Given the description of an element on the screen output the (x, y) to click on. 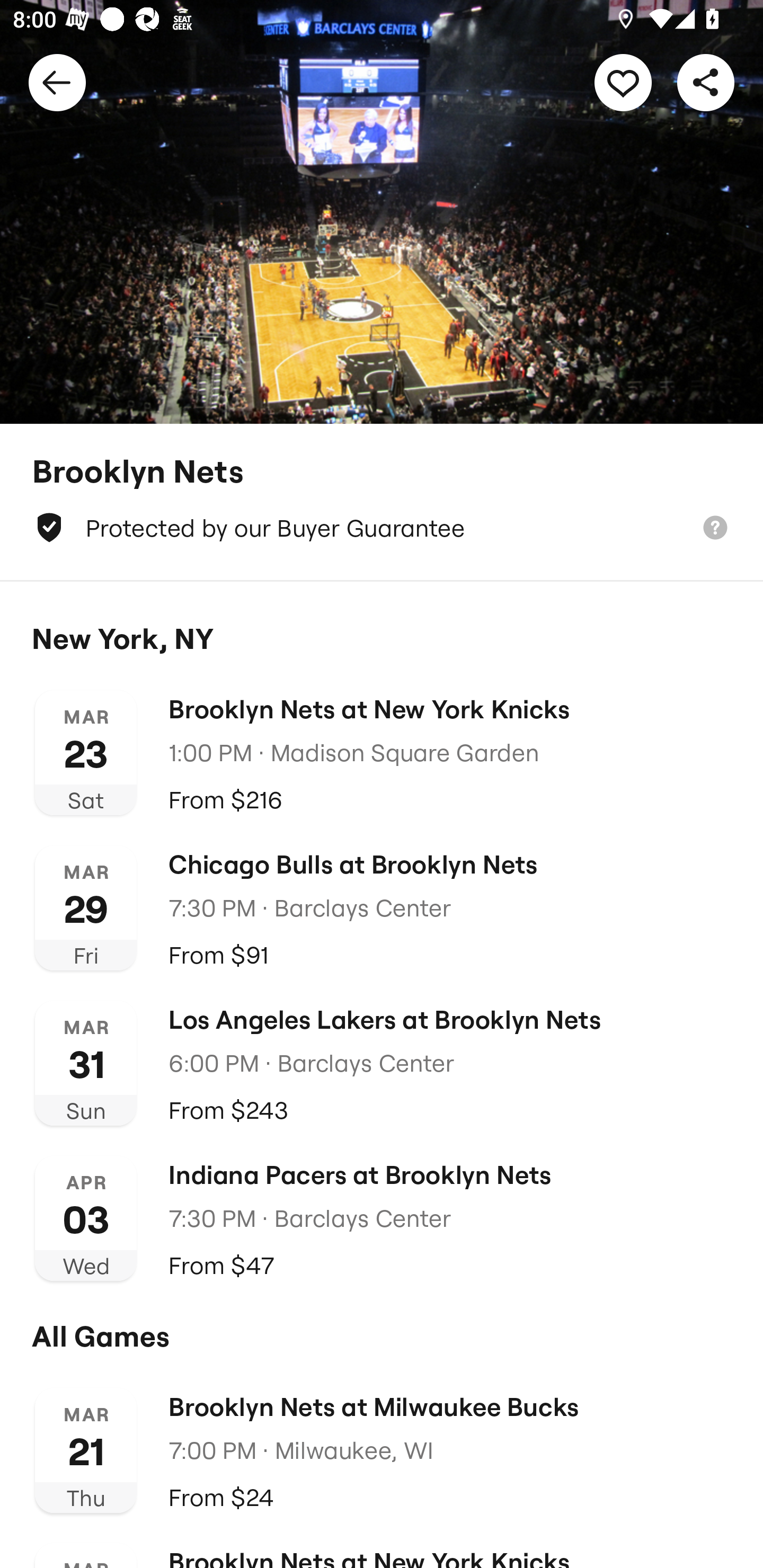
Back (57, 81)
Track this performer (623, 81)
Share this performer (705, 81)
Protected by our Buyer Guarantee Learn more (381, 527)
